Given the description of an element on the screen output the (x, y) to click on. 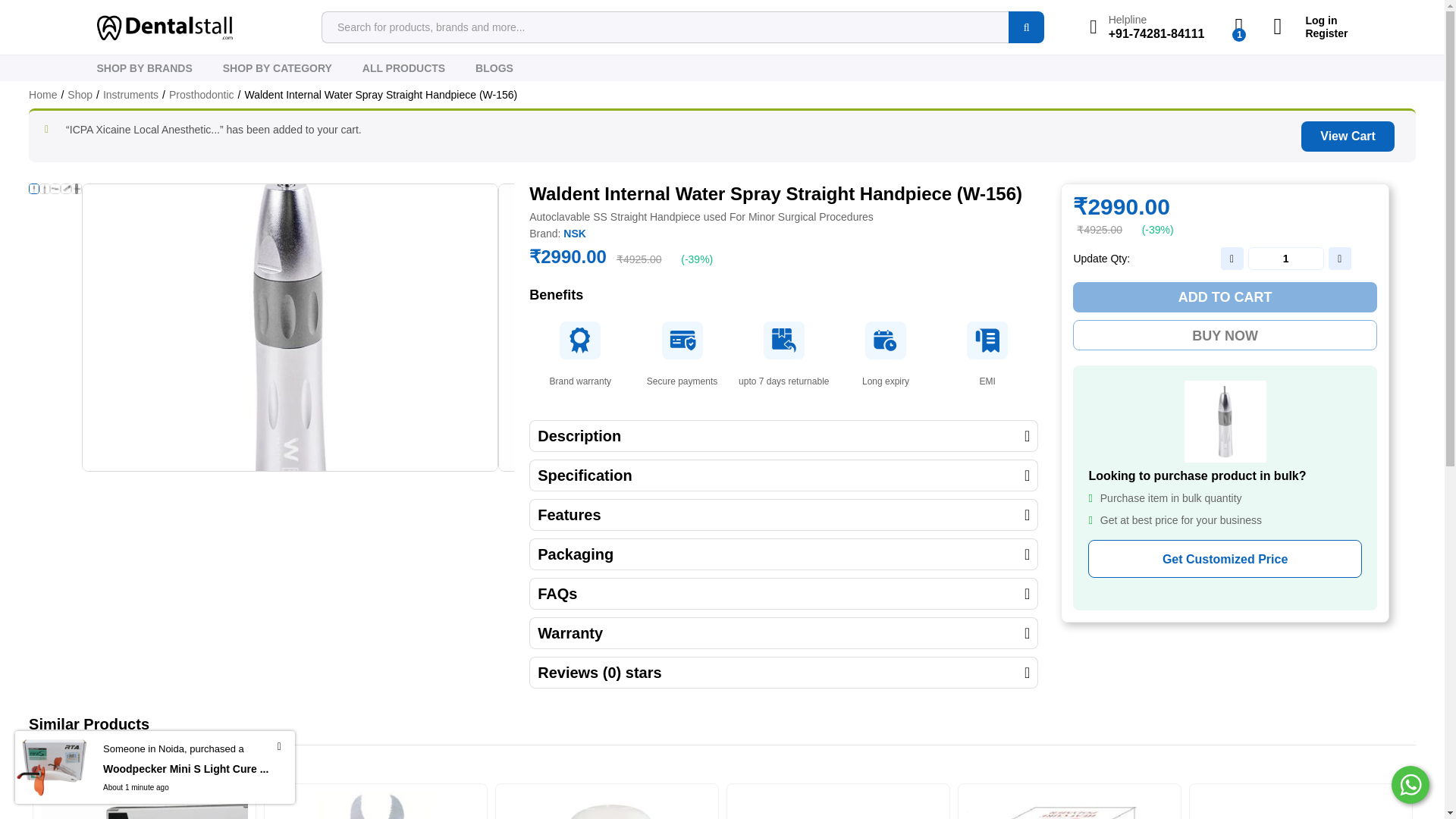
Qty (1285, 258)
Avue T Cem Ne - Dentalstall India (838, 805)
Maarc Soft Liner - Dentalstall India (143, 805)
1 (1285, 258)
SHOP BY BRANDS (144, 68)
Log in (1310, 20)
MAARC Heat Cure Powder 450gm - Dentalstall India (1069, 805)
ALL PRODUCTS (403, 68)
Register (1310, 33)
BLOGS (494, 68)
API Plaster Cutting Plier - Dentalstall India (375, 805)
Ashoosons API Phantom Head Complete - Dentalstall India (606, 805)
SHOP BY CATEGORY (276, 68)
